Given the description of an element on the screen output the (x, y) to click on. 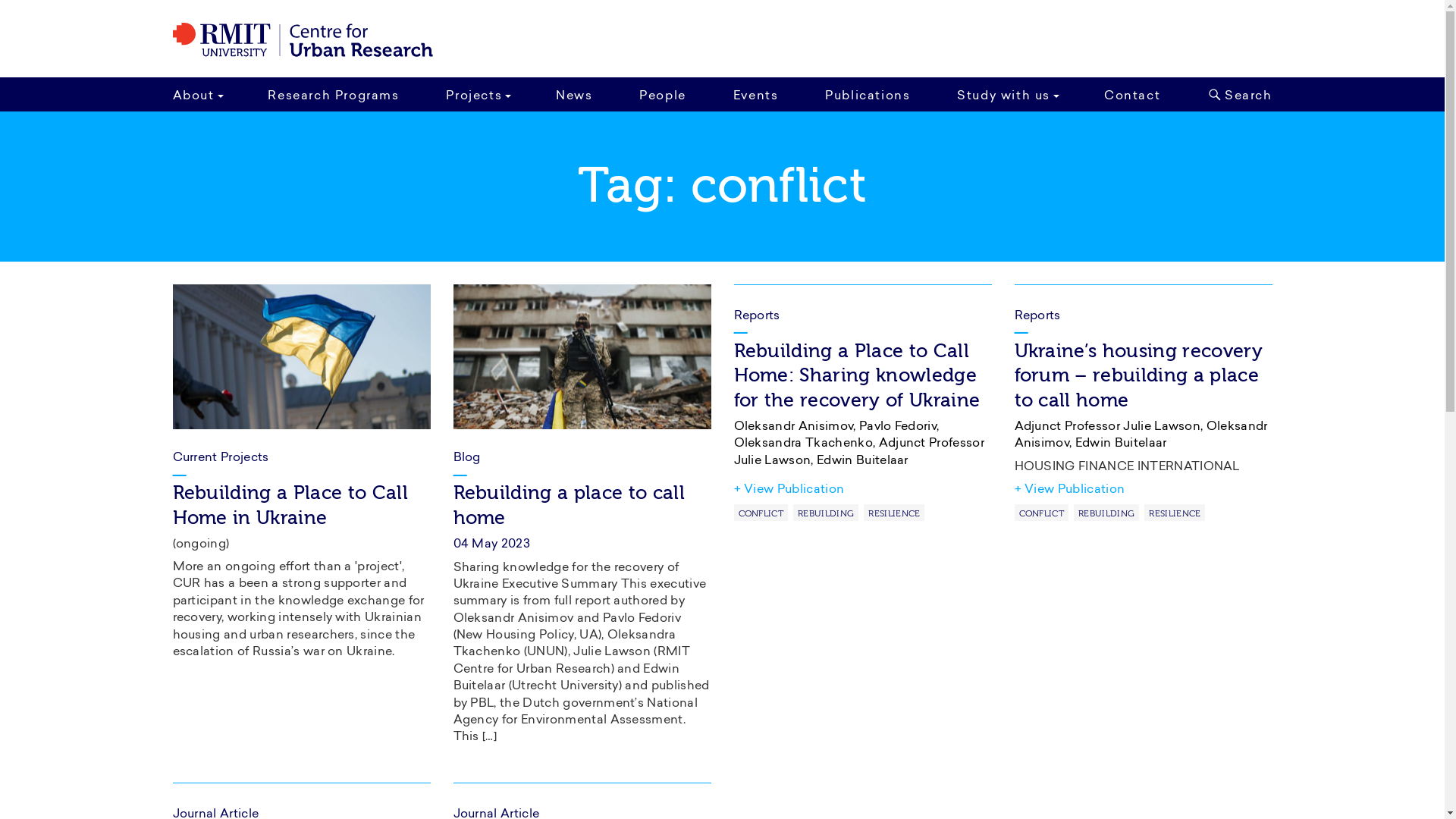
View Publication Element type: text (1069, 489)
CONFLICT Element type: text (761, 512)
Projects Element type: text (477, 94)
About Element type: text (200, 94)
REBUILDING Element type: text (1106, 512)
Blog Element type: text (466, 457)
Current Projects Element type: text (220, 457)
Rebuilding a Place to Call Home in Ukraine Element type: text (289, 505)
Adjunct Professor Julie Lawson Element type: text (859, 451)
RMIT University Centre for Urban Research Element type: text (302, 39)
Search Element type: text (1235, 94)
RESILIENCE Element type: text (1174, 512)
View Publication Element type: text (789, 489)
Events Element type: text (755, 94)
Study with us Element type: text (1006, 94)
Publications Element type: text (867, 94)
Adjunct Professor Julie Lawson Element type: text (1107, 426)
CONFLICT Element type: text (1041, 512)
News Element type: text (573, 94)
Reports Element type: text (862, 304)
Rebuilding a place to call home Element type: text (568, 505)
Reports Element type: text (1143, 304)
REBUILDING Element type: text (825, 512)
Contact Element type: text (1131, 94)
RESILIENCE Element type: text (893, 512)
People Element type: text (662, 94)
Research Programs Element type: text (333, 94)
